Given the description of an element on the screen output the (x, y) to click on. 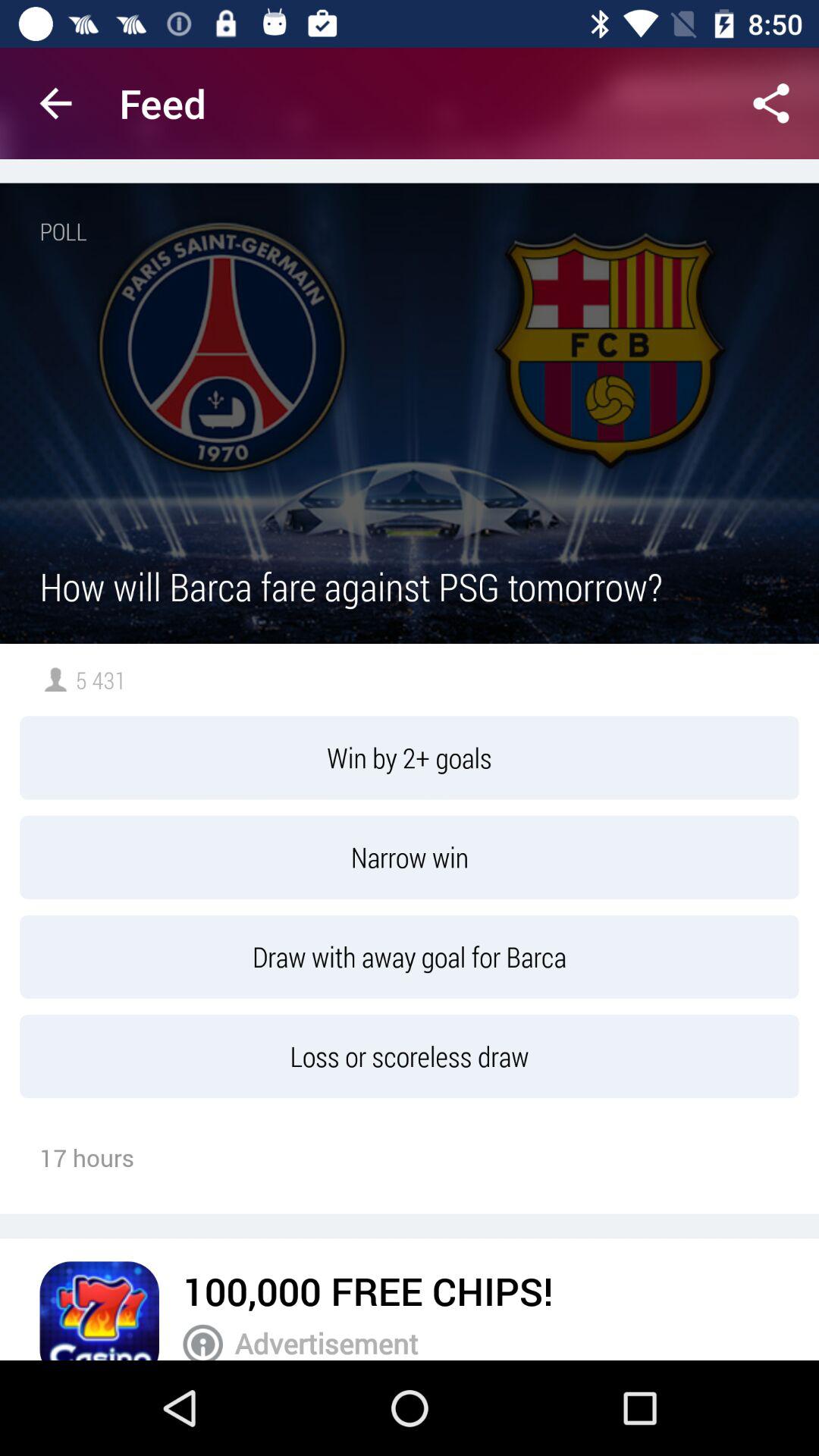
turn off the app to the left of feed app (55, 103)
